Given the description of an element on the screen output the (x, y) to click on. 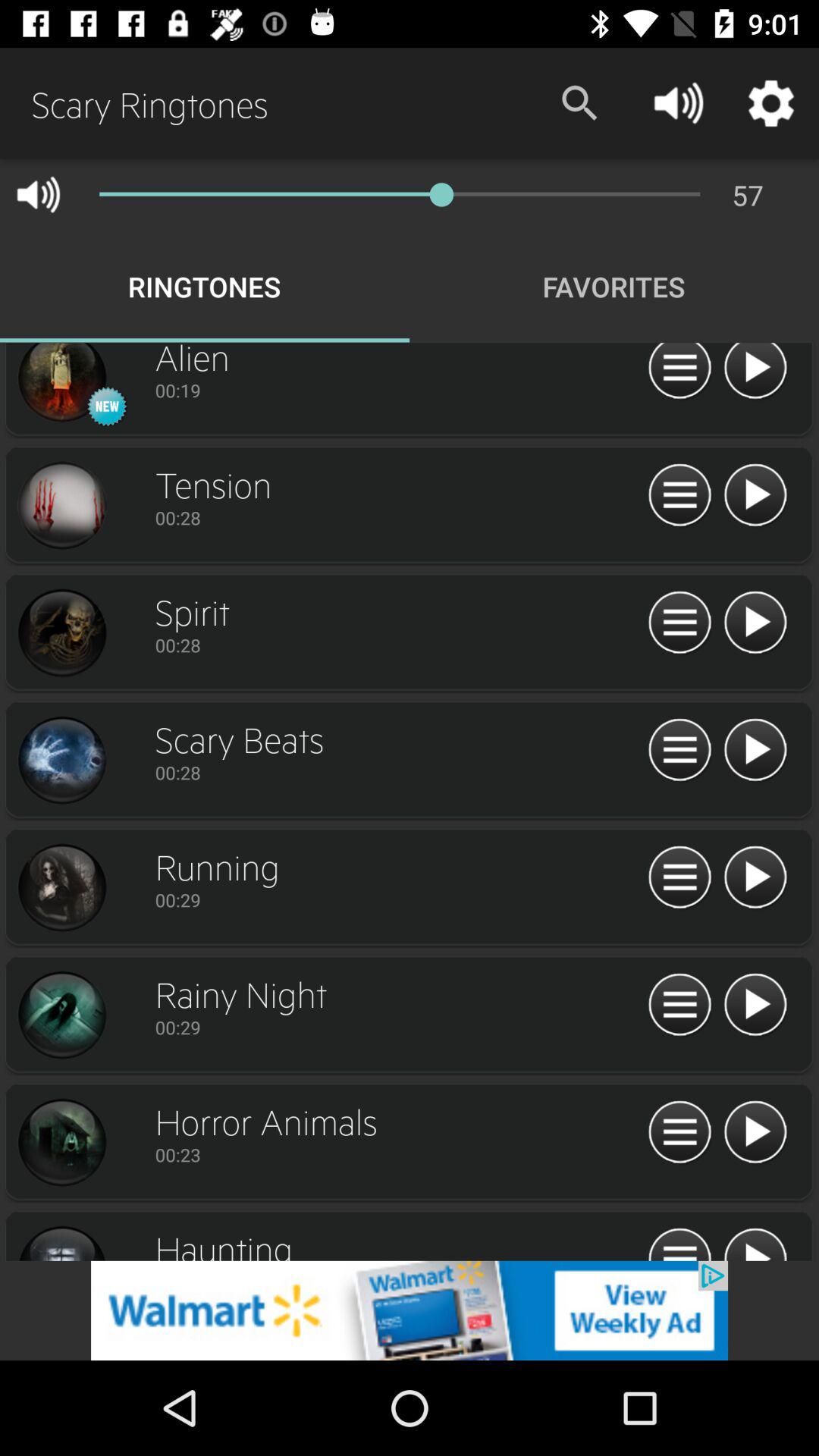
switch to more options (679, 373)
